Given the description of an element on the screen output the (x, y) to click on. 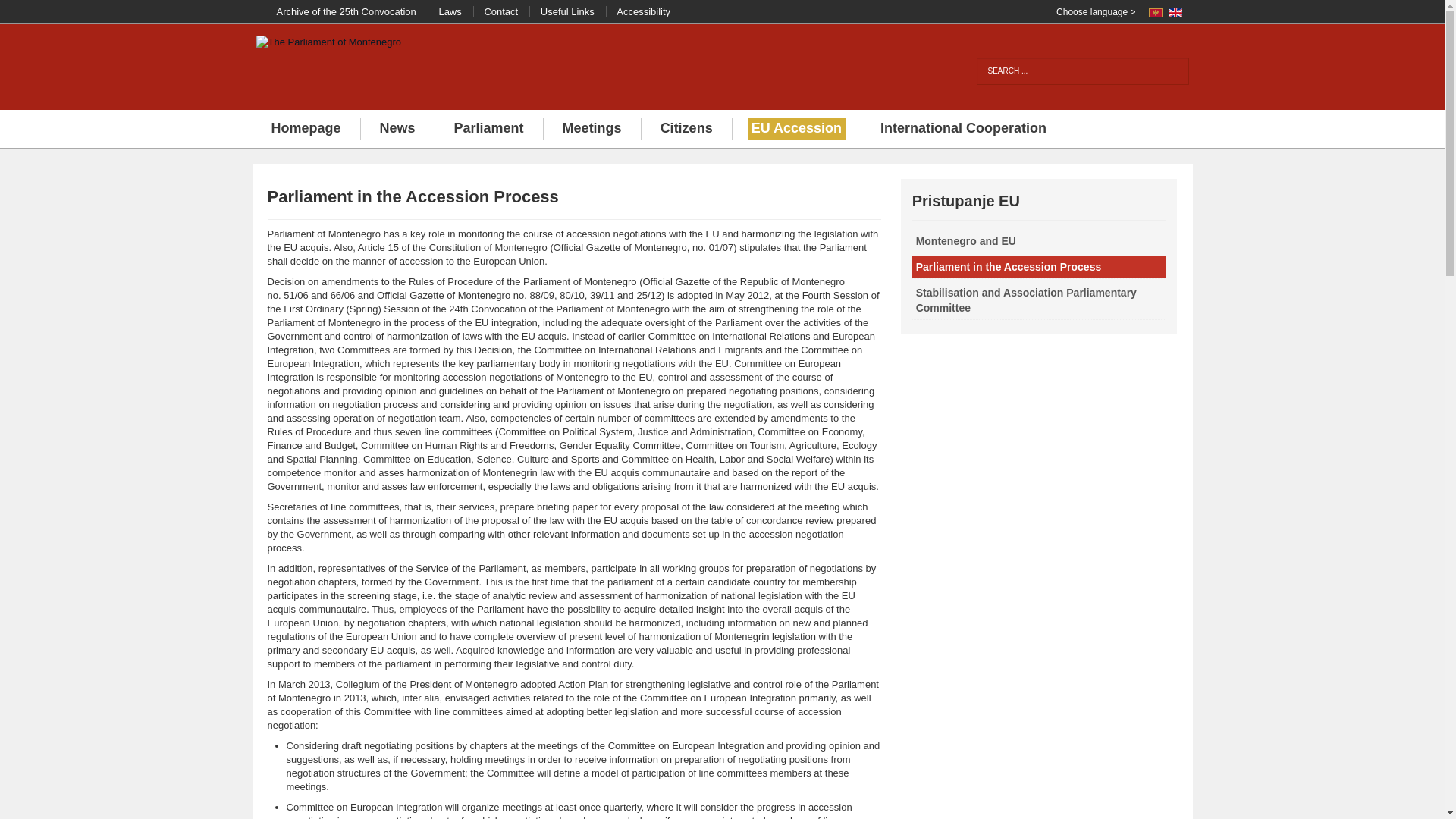
English (1173, 12)
Meetings (592, 128)
Crnogorski (1154, 12)
Laws (451, 11)
Accessibility (644, 11)
Contact (502, 11)
Archive of the 25th Convocation (347, 11)
International Cooperation (962, 128)
Homepage (304, 128)
News (397, 128)
